Given the description of an element on the screen output the (x, y) to click on. 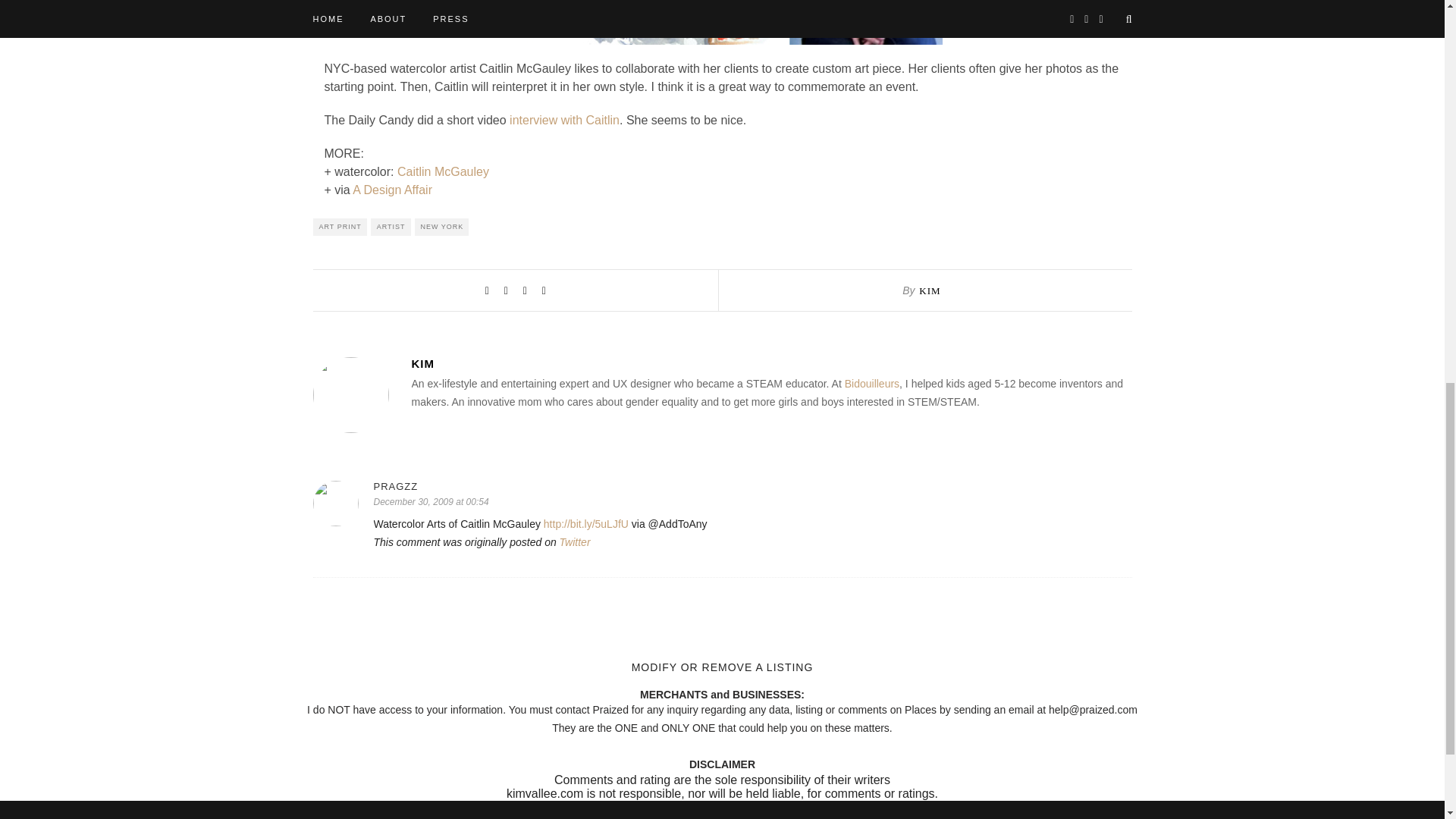
new-york based watercolor artist Caitlin McGauley (722, 22)
A Design Affair (392, 189)
Caitlin McGauley (443, 171)
KIM (929, 290)
Posts by Kim (929, 290)
ART PRINT (339, 226)
interview with Caitlin (564, 119)
ARTIST (390, 226)
KIM (770, 363)
PRAGZZ (751, 486)
